Given the description of an element on the screen output the (x, y) to click on. 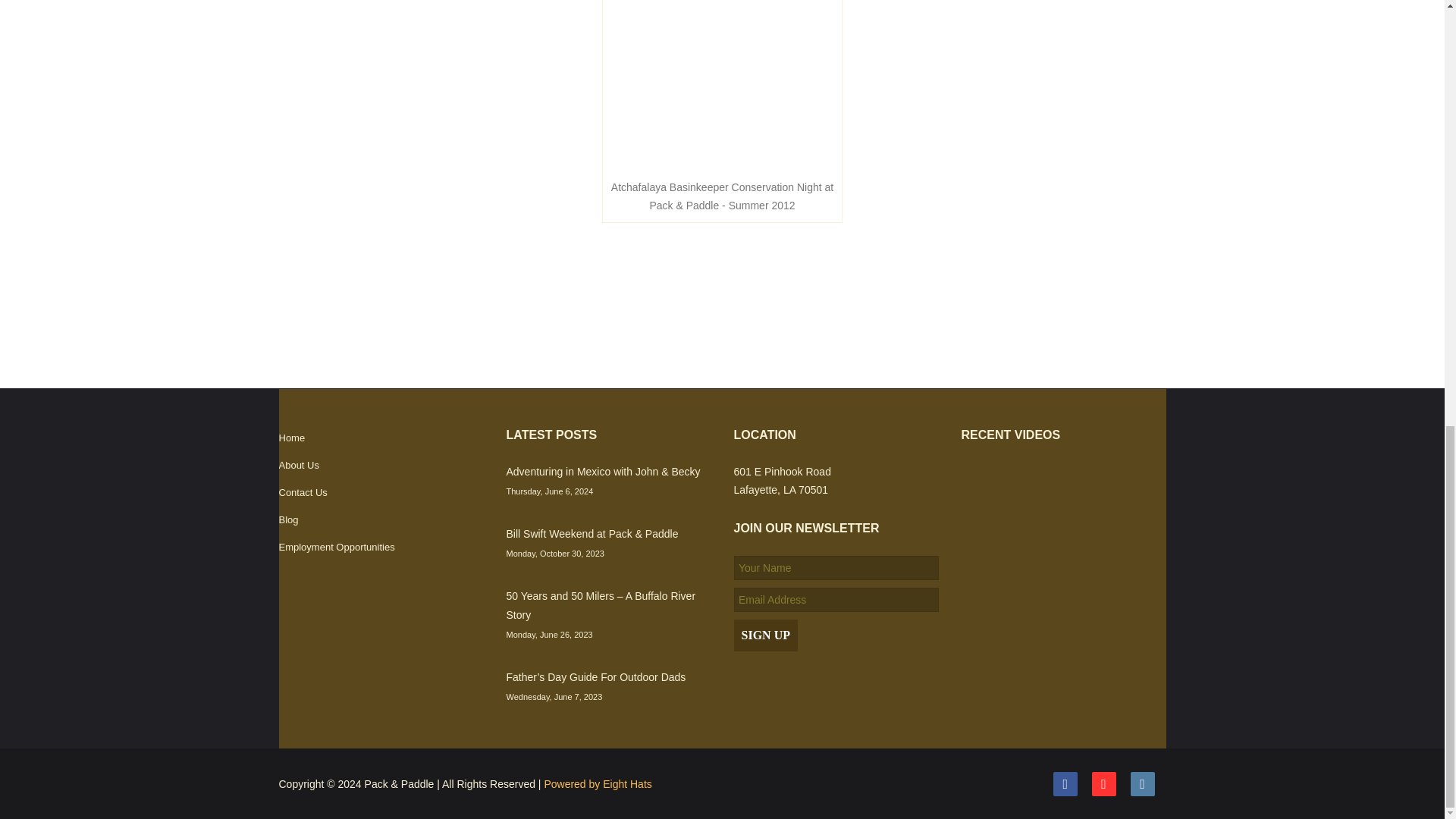
basinkeeper-cons-night (721, 85)
Sign up (765, 635)
